Given the description of an element on the screen output the (x, y) to click on. 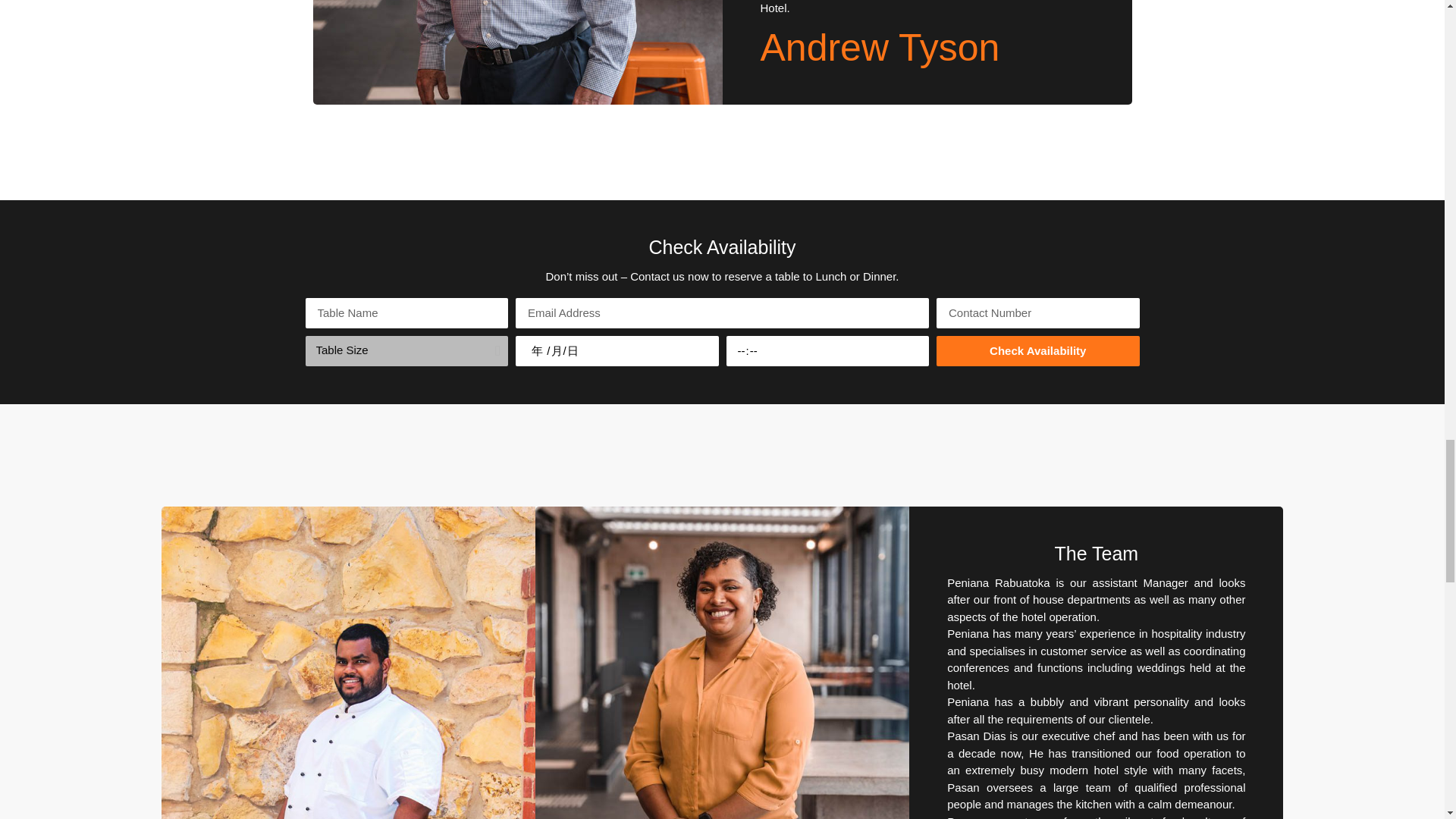
Check Availability (1038, 350)
